Given the description of an element on the screen output the (x, y) to click on. 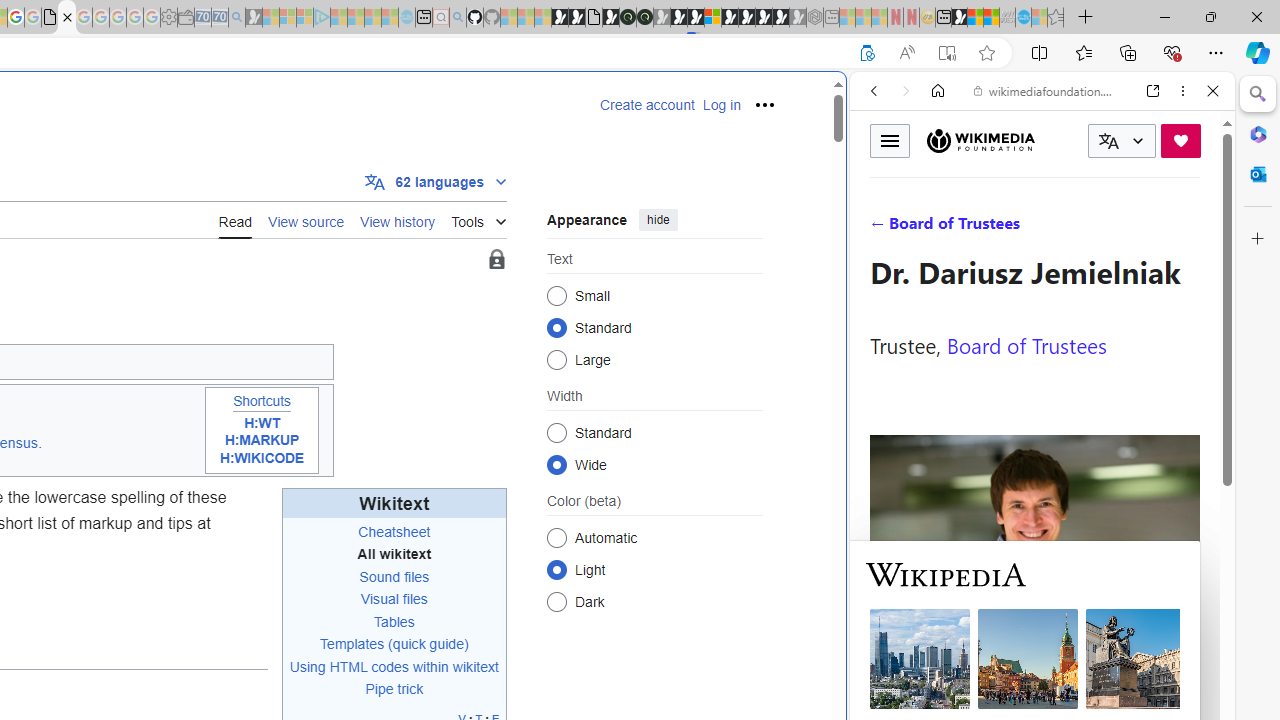
Visual files (393, 599)
View source (306, 219)
Enter Immersive Reader (F9) (946, 53)
github - Search - Sleeping (457, 17)
World - MSN (975, 17)
View history (397, 219)
google_privacy_policy_zh-CN.pdf (49, 17)
Web scope (882, 180)
wikimediafoundation.org (1045, 90)
